Given the description of an element on the screen output the (x, y) to click on. 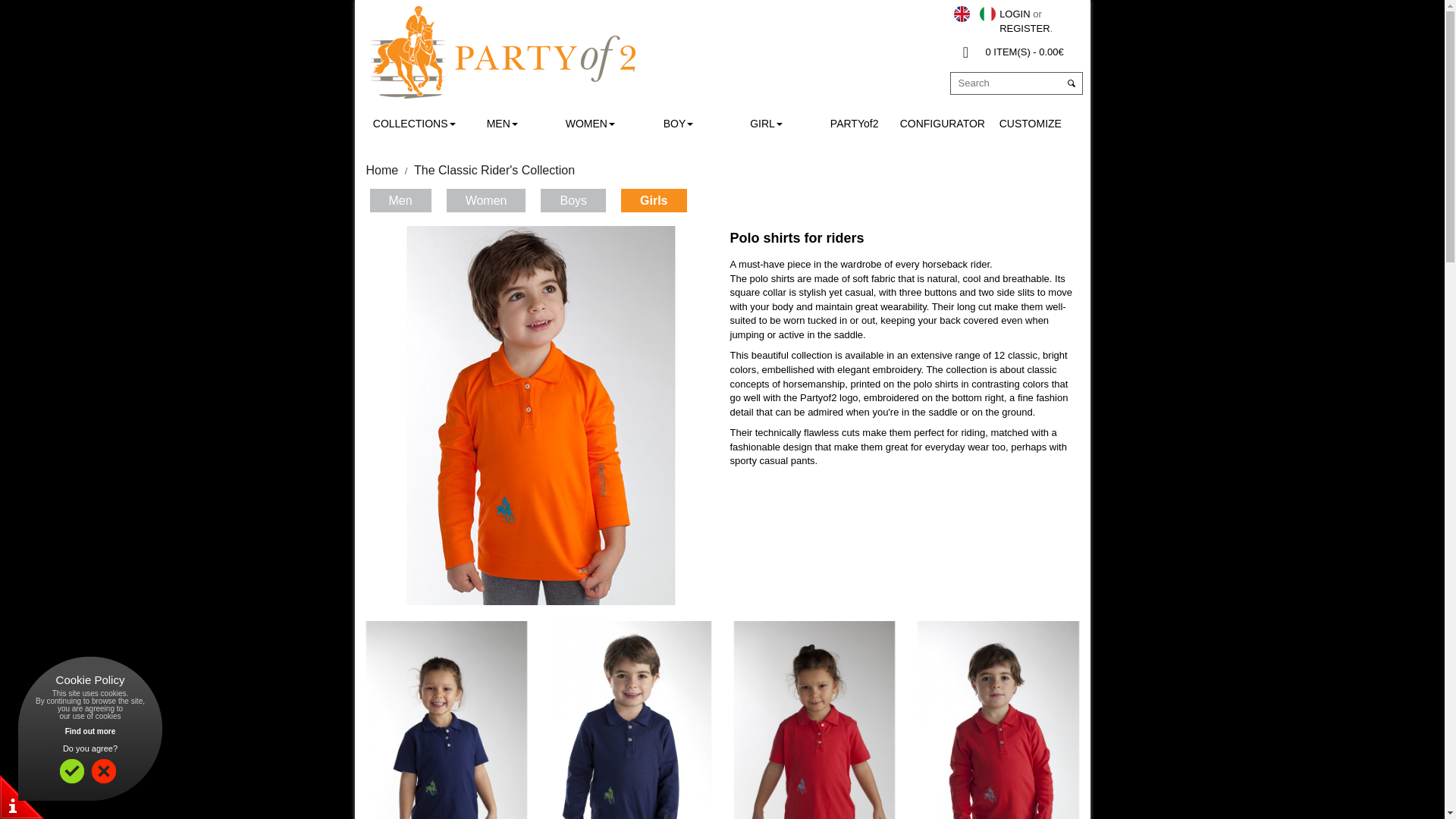
English (961, 13)
REGISTER (1023, 28)
COLLECTIONS (414, 123)
MEN (502, 123)
Party Of Two (501, 51)
Italiano (987, 13)
WOMEN (589, 123)
LOGIN (1013, 13)
